Given the description of an element on the screen output the (x, y) to click on. 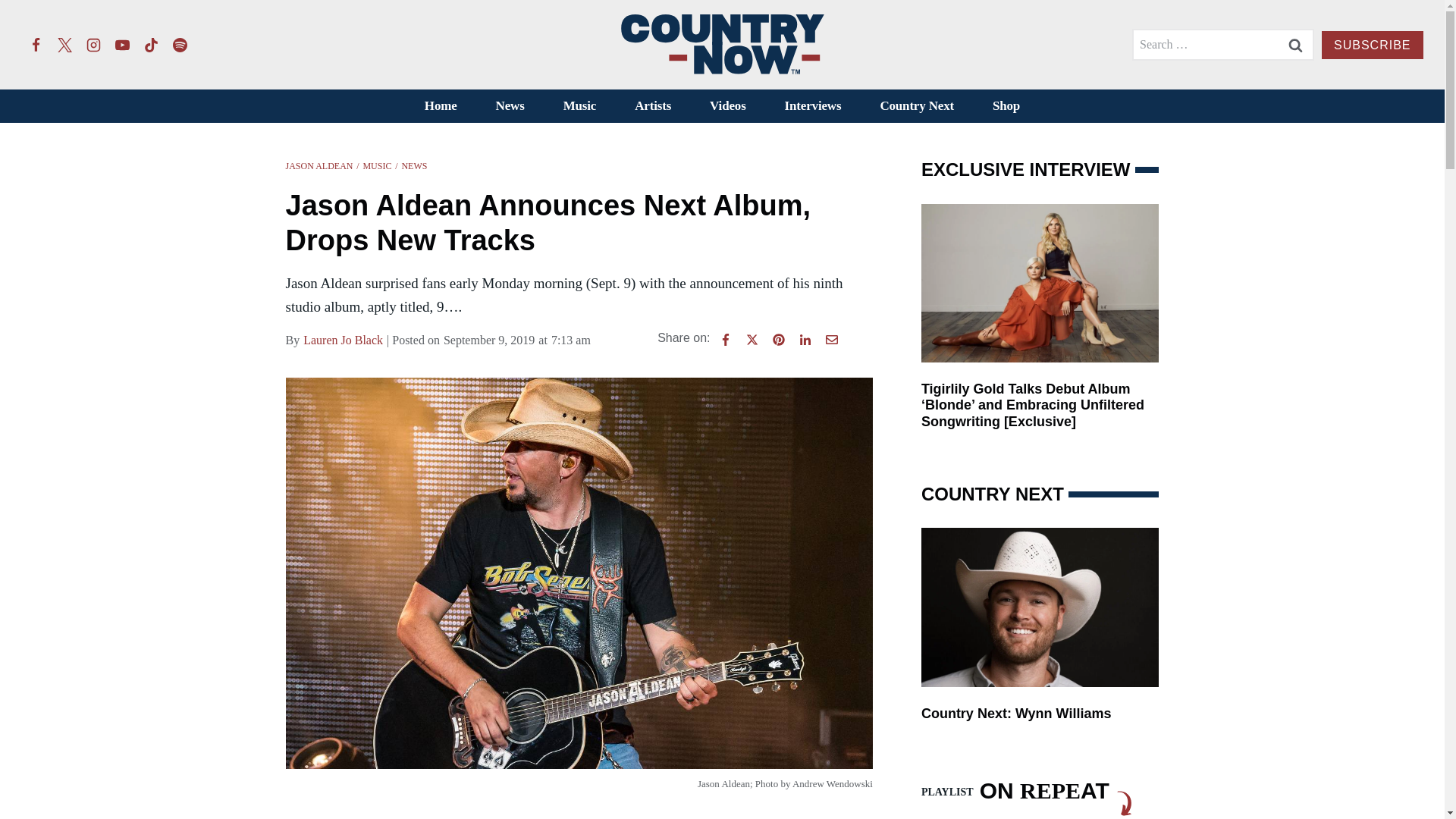
Videos (727, 105)
News (509, 105)
Music (579, 105)
MUSIC (376, 165)
Artists (652, 105)
Home (440, 105)
Lauren Jo Black (342, 340)
NEWS (413, 165)
Interviews (812, 105)
Shop (1005, 105)
